Given the description of an element on the screen output the (x, y) to click on. 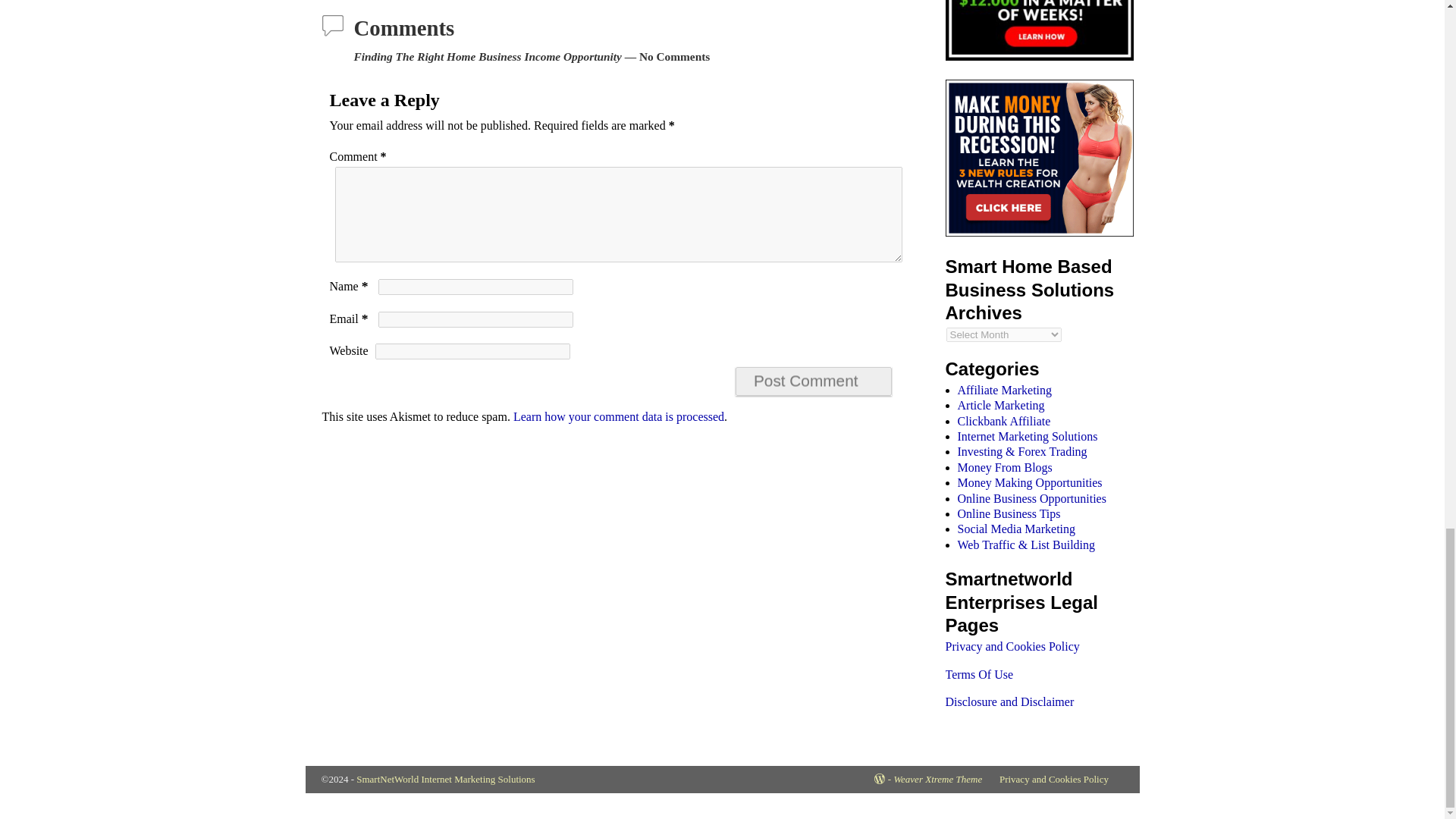
Post Comment (813, 380)
Post Comment (813, 380)
Learn how your comment data is processed (618, 416)
Proudly powered by WordPress (883, 778)
SmartNetWorld Internet Marketing Solutions (445, 778)
